Given the description of an element on the screen output the (x, y) to click on. 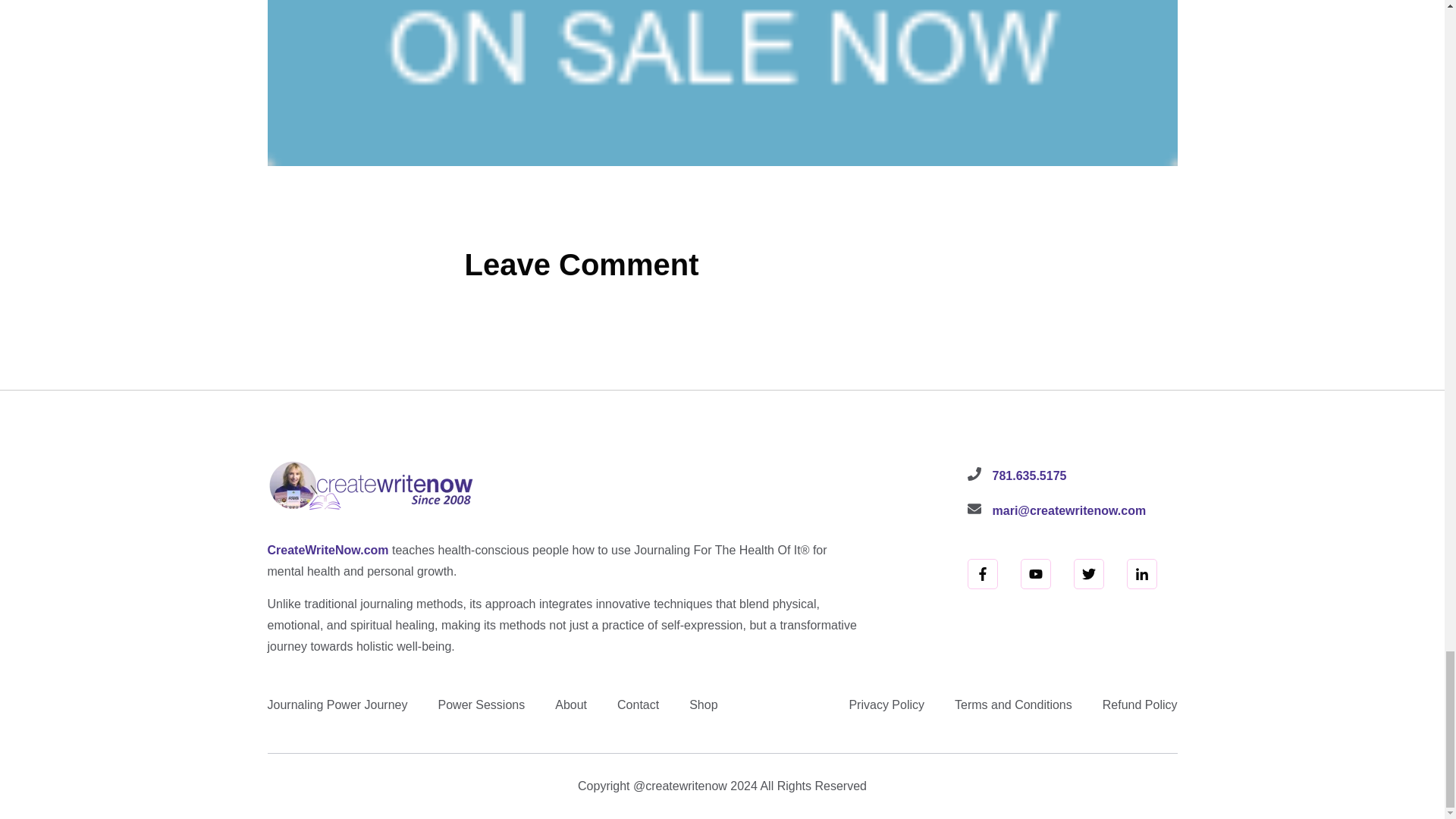
Follow us on Twitter (1088, 573)
Follow us on Facebook (982, 573)
Follow us on YouTube (1035, 573)
CreateWriteNow (372, 484)
CreateWriteNow.com (327, 549)
Follow us on LinkedIn (1141, 573)
